Given the description of an element on the screen output the (x, y) to click on. 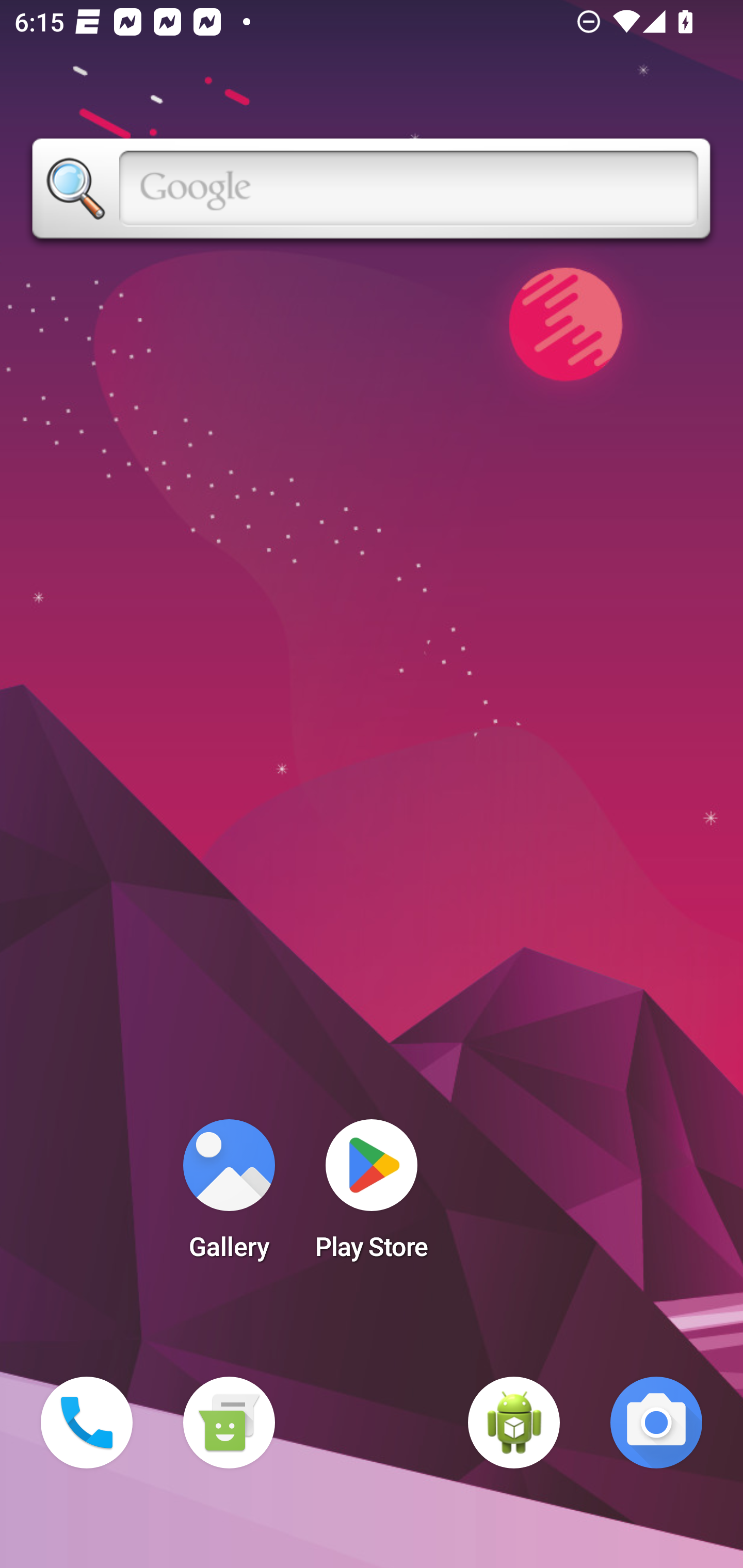
Gallery (228, 1195)
Play Store (371, 1195)
Phone (86, 1422)
Messaging (228, 1422)
WebView Browser Tester (513, 1422)
Camera (656, 1422)
